Given the description of an element on the screen output the (x, y) to click on. 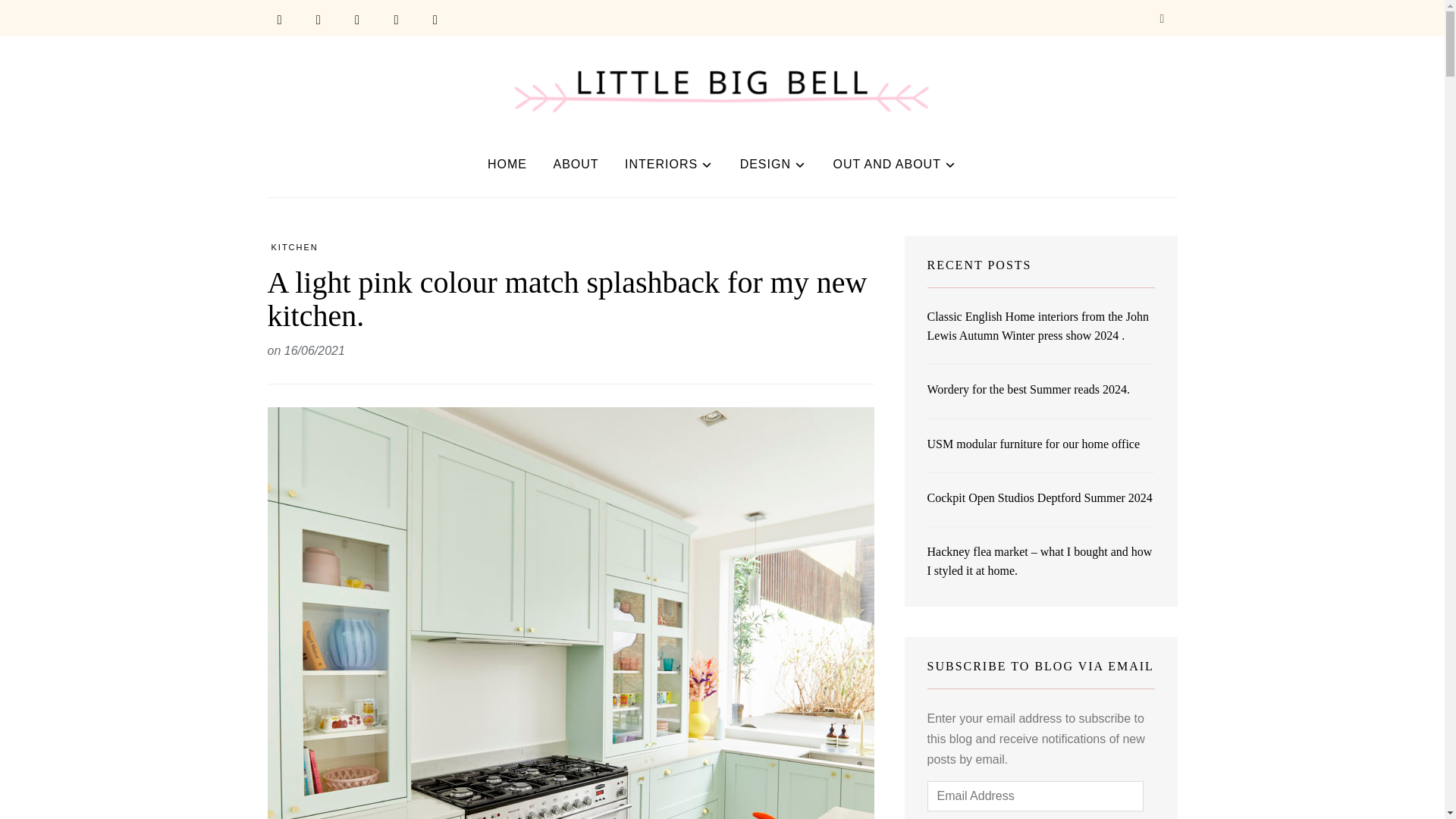
Facebook (279, 19)
INSTAGRAM (357, 19)
Search (1161, 19)
Default Label (396, 19)
MAIL (435, 19)
PINTEREST (396, 19)
Twitter (318, 19)
Instagram (357, 19)
Default Label (435, 19)
FACEBOOK (279, 19)
